Given the description of an element on the screen output the (x, y) to click on. 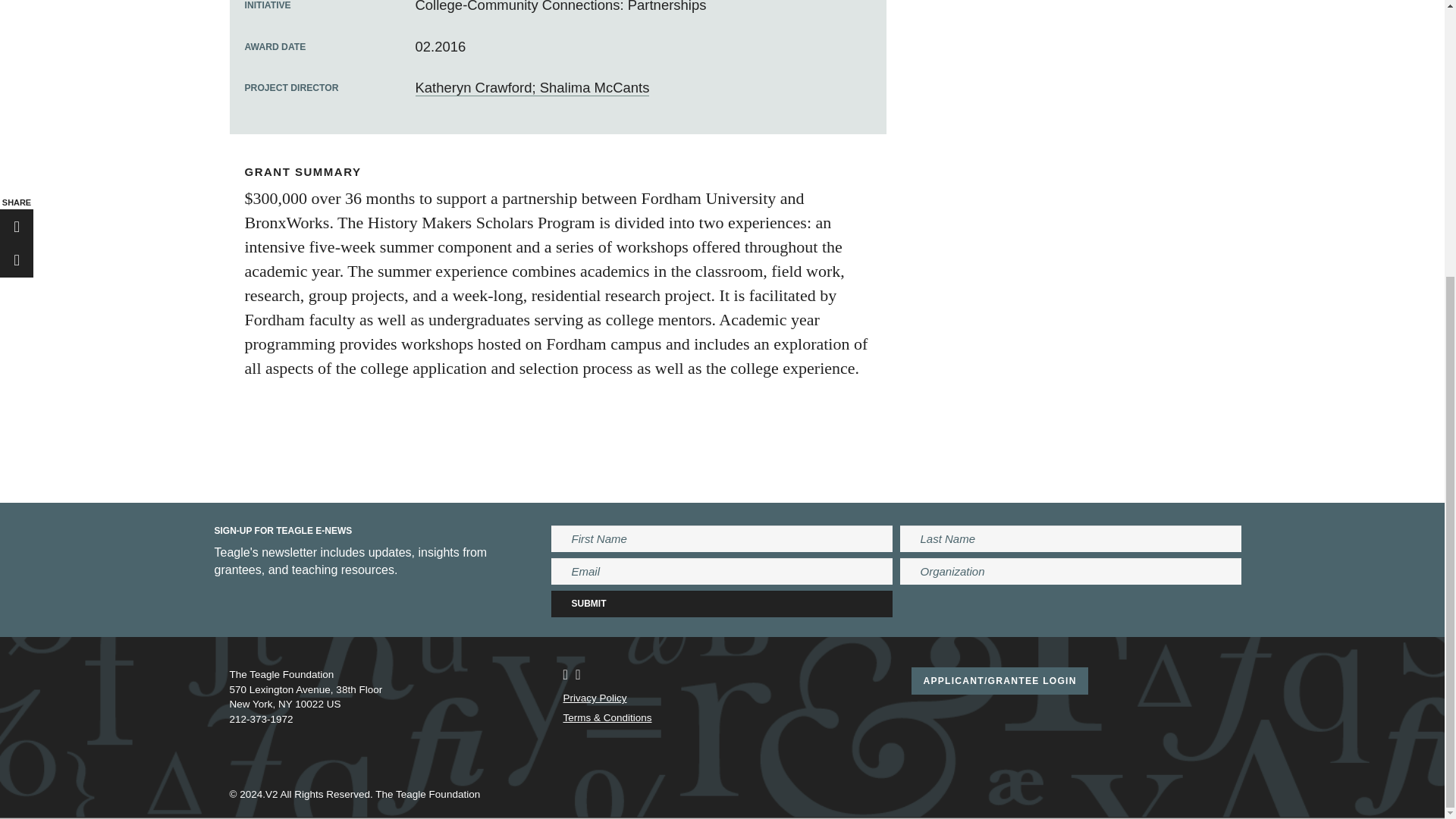
Privacy Policy (594, 697)
Submit (721, 603)
Submit (721, 603)
Katheryn Crawford; Shalima McCants (531, 87)
